Given the description of an element on the screen output the (x, y) to click on. 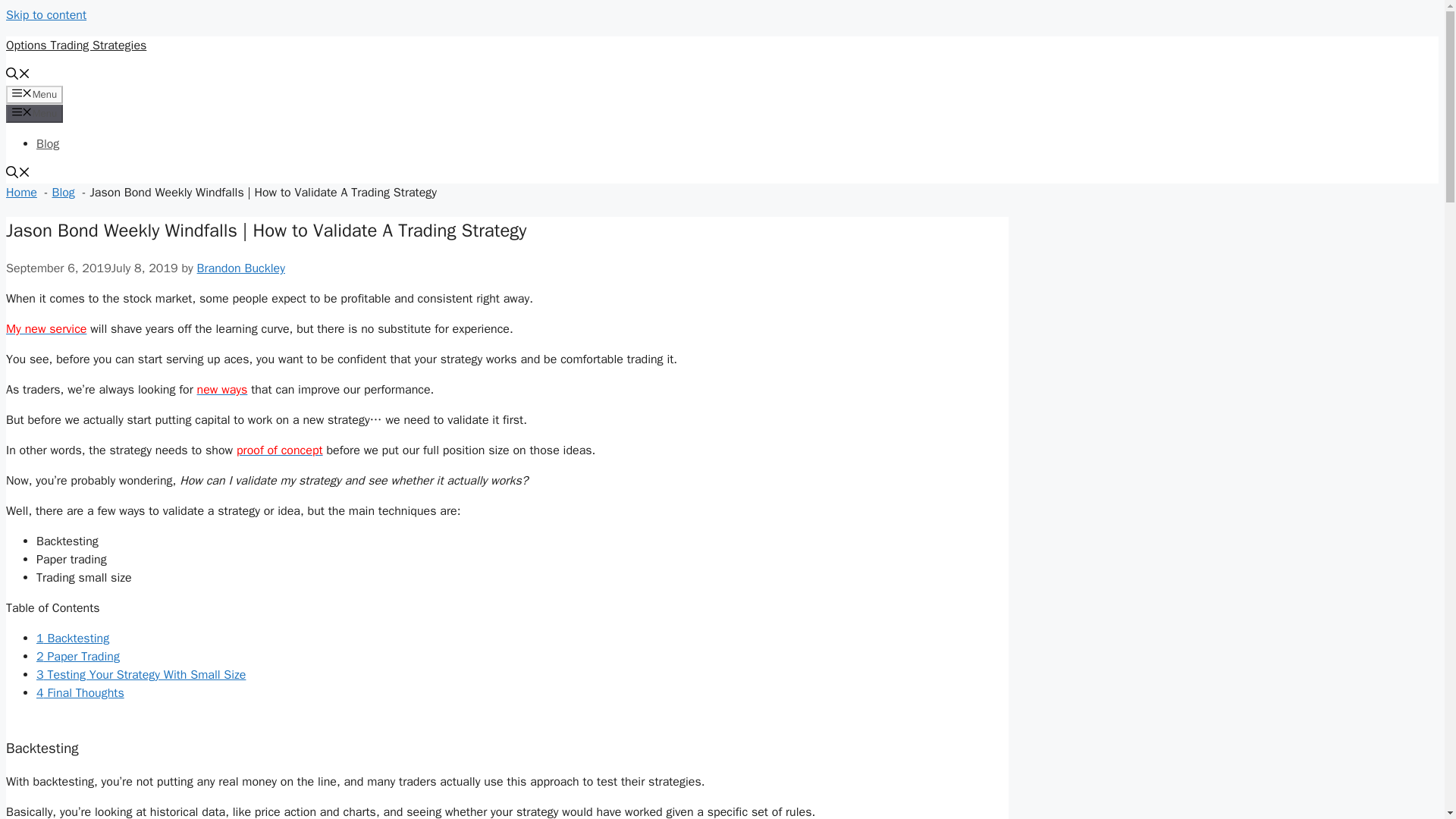
Home (21, 192)
3 Testing Your Strategy With Small Size (141, 674)
Menu (33, 113)
Blog (62, 192)
4 Final Thoughts (79, 693)
Brandon Buckley (240, 268)
View all posts by Brandon Buckley (240, 268)
1 Backtesting (72, 638)
Menu (33, 94)
new ways (221, 389)
Skip to content (45, 14)
Skip to content (45, 14)
2 Paper Trading (77, 656)
Options Trading Strategies (76, 45)
My new service (45, 328)
